Given the description of an element on the screen output the (x, y) to click on. 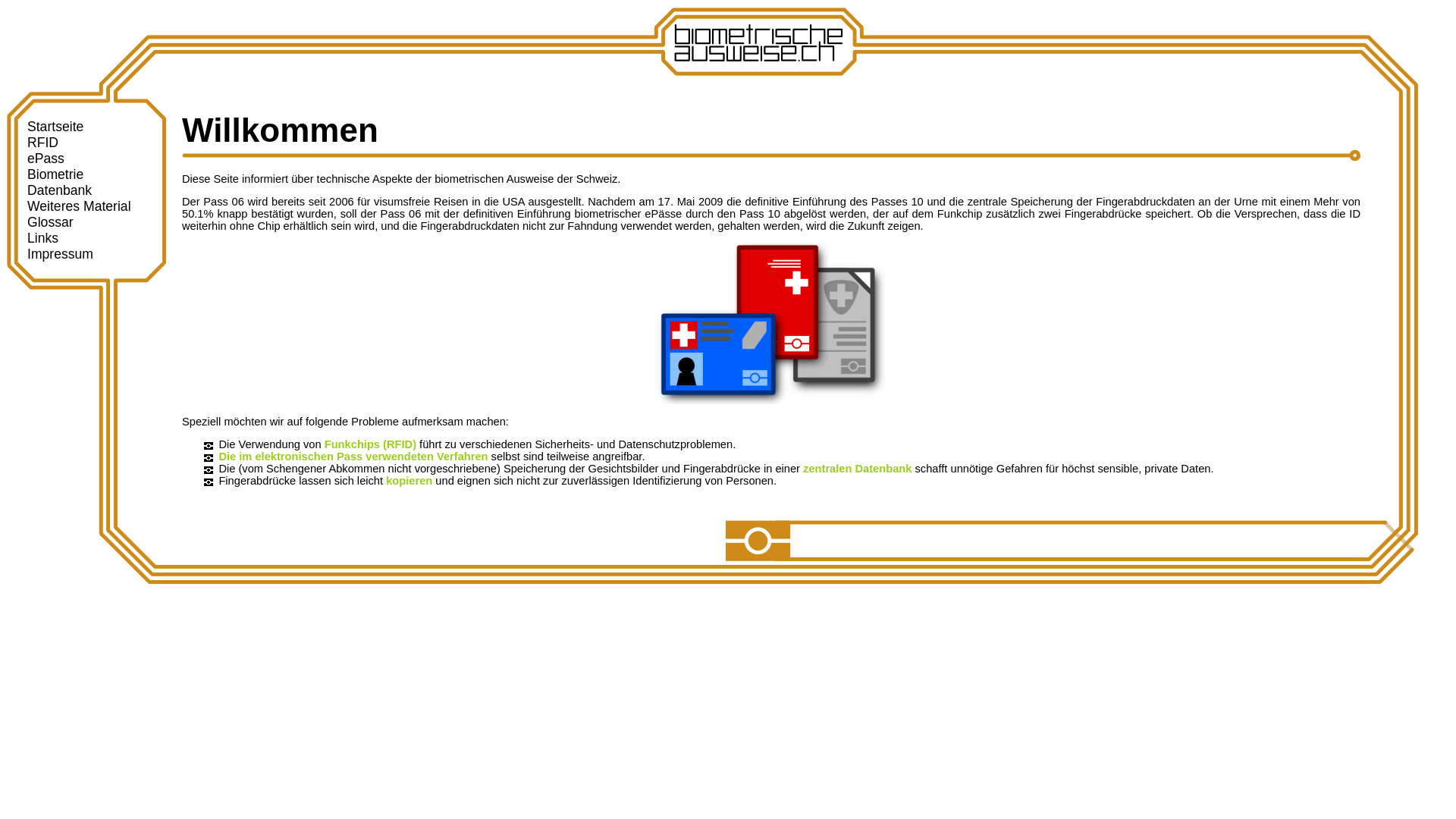
Funkchips (RFID) Element type: text (370, 444)
Weiteres Material Element type: text (79, 205)
Startseite Element type: text (55, 126)
Glossar Element type: text (50, 221)
Links Element type: text (42, 237)
ePass Element type: text (45, 158)
Impressum Element type: text (60, 253)
Biometrie Element type: text (55, 174)
Die im elektronischen Pass verwendeten Verfahren Element type: text (352, 456)
RFID Element type: text (42, 142)
kopieren Element type: text (408, 480)
Datenbank Element type: text (59, 189)
zentralen Datenbank Element type: text (857, 468)
